Given the description of an element on the screen output the (x, y) to click on. 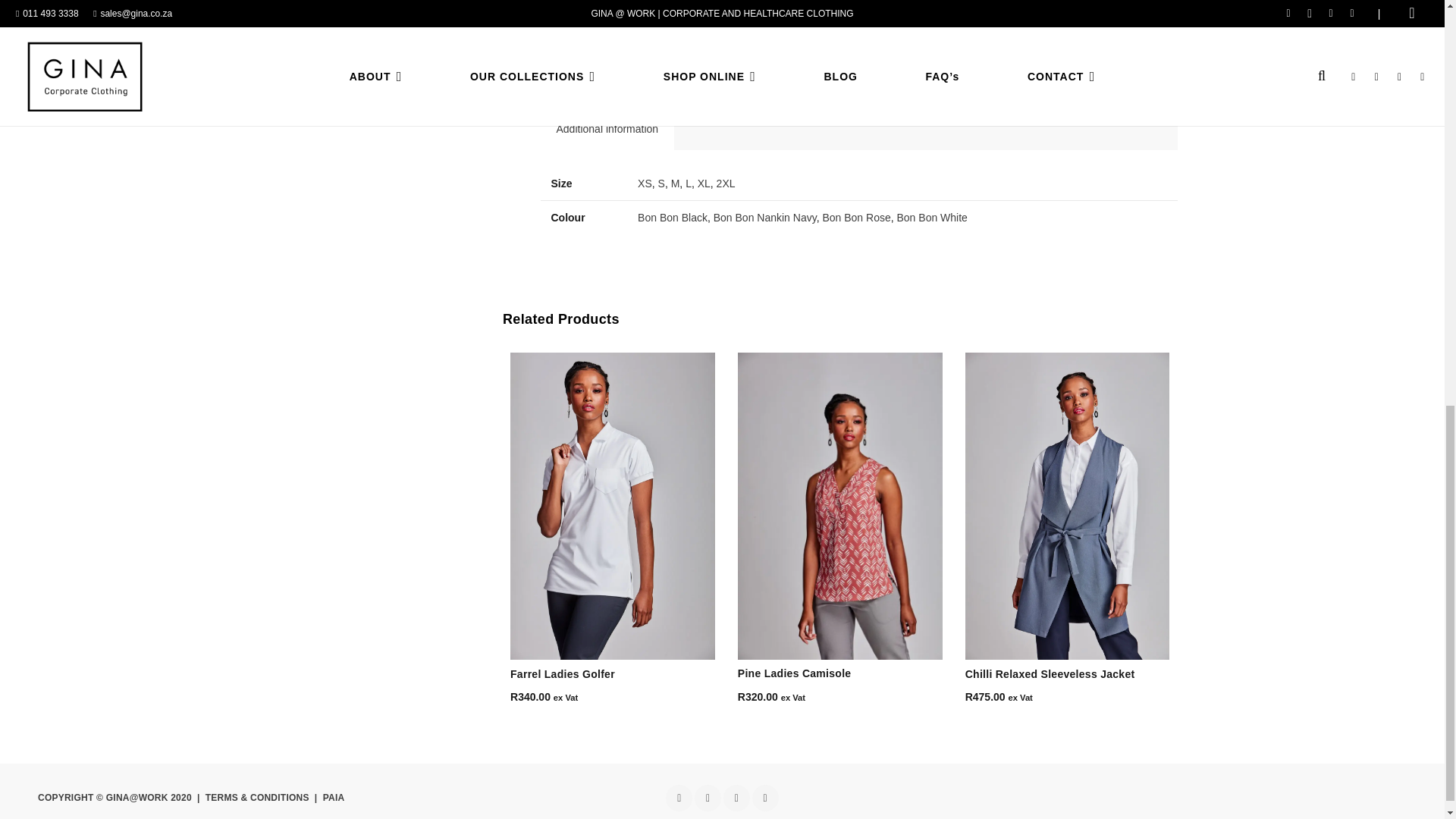
Pimento Drawing Large (660, 38)
